Given the description of an element on the screen output the (x, y) to click on. 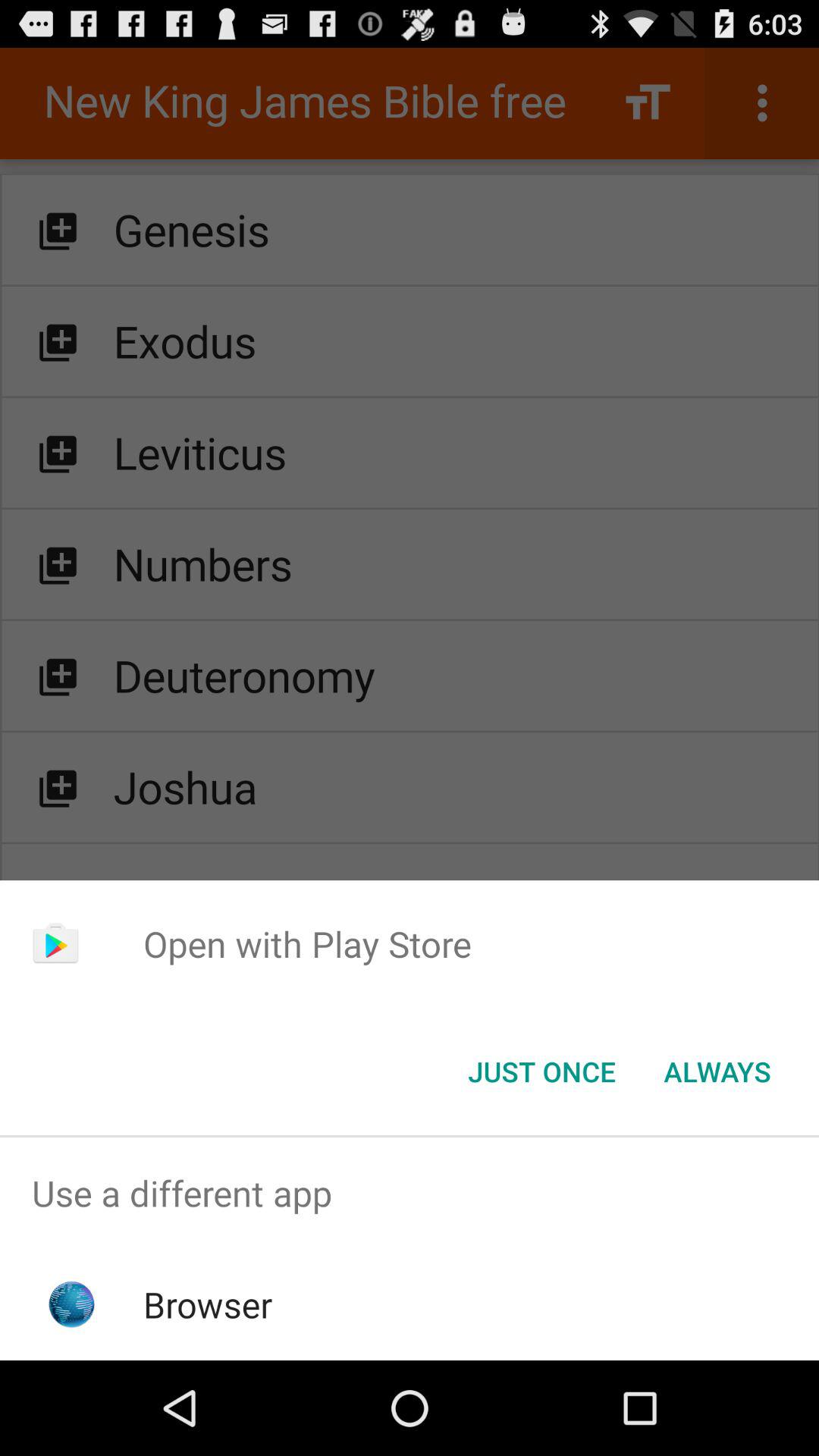
open the button to the left of the always icon (541, 1071)
